Given the description of an element on the screen output the (x, y) to click on. 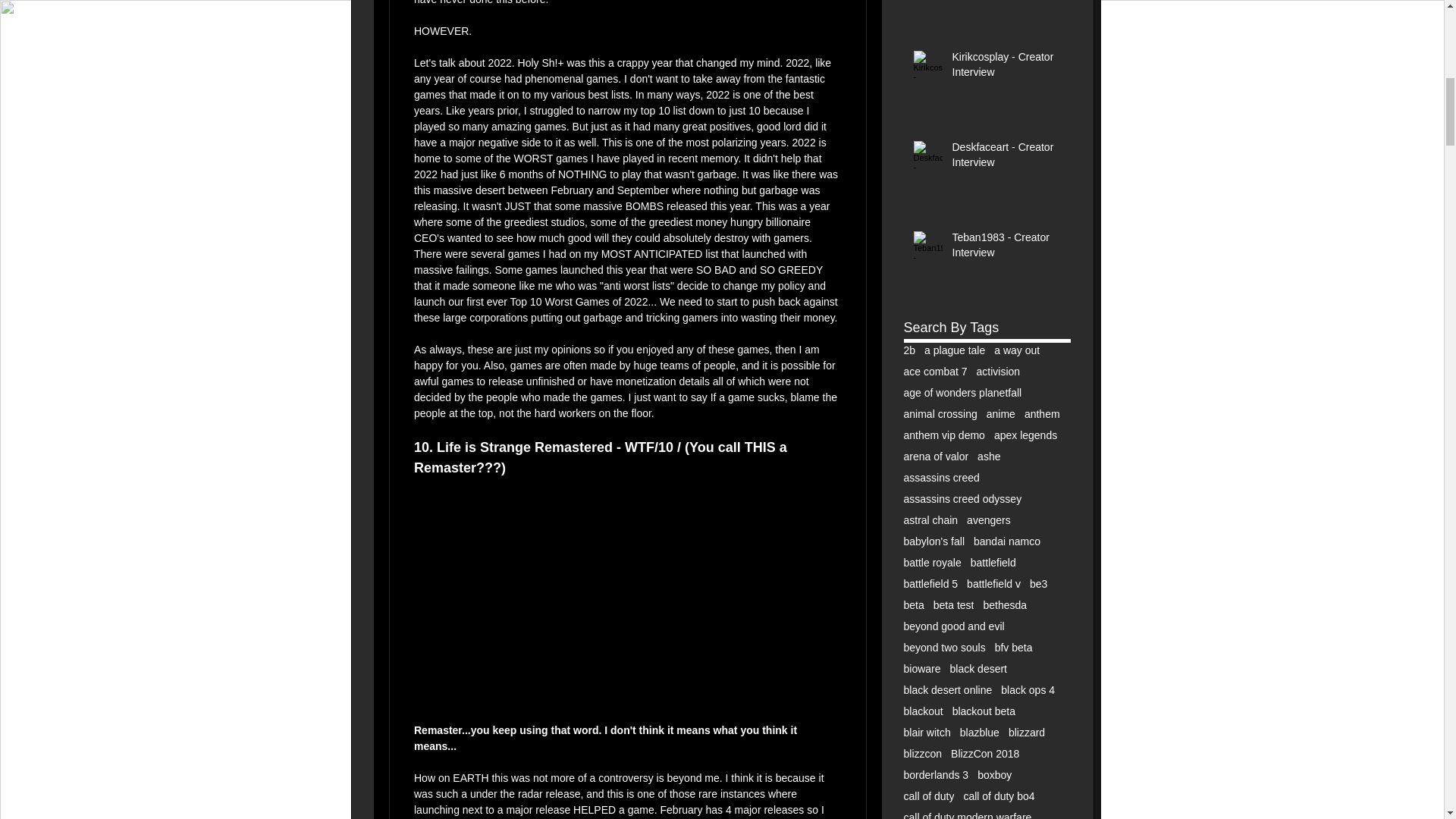
anime (1000, 413)
activision (998, 371)
anthem (1042, 413)
a plague tale (954, 349)
2b (909, 349)
arena of valor (936, 456)
Deskfaceart - Creator Interview (1006, 158)
Teban1983 - Creator Interview (1006, 248)
a way out (1016, 349)
ace combat 7 (936, 371)
animal crossing (940, 413)
apex legends (1025, 435)
Kirikcosplay - Creator Interview (1006, 67)
age of wonders planetfall (963, 392)
anthem vip demo (944, 435)
